Given the description of an element on the screen output the (x, y) to click on. 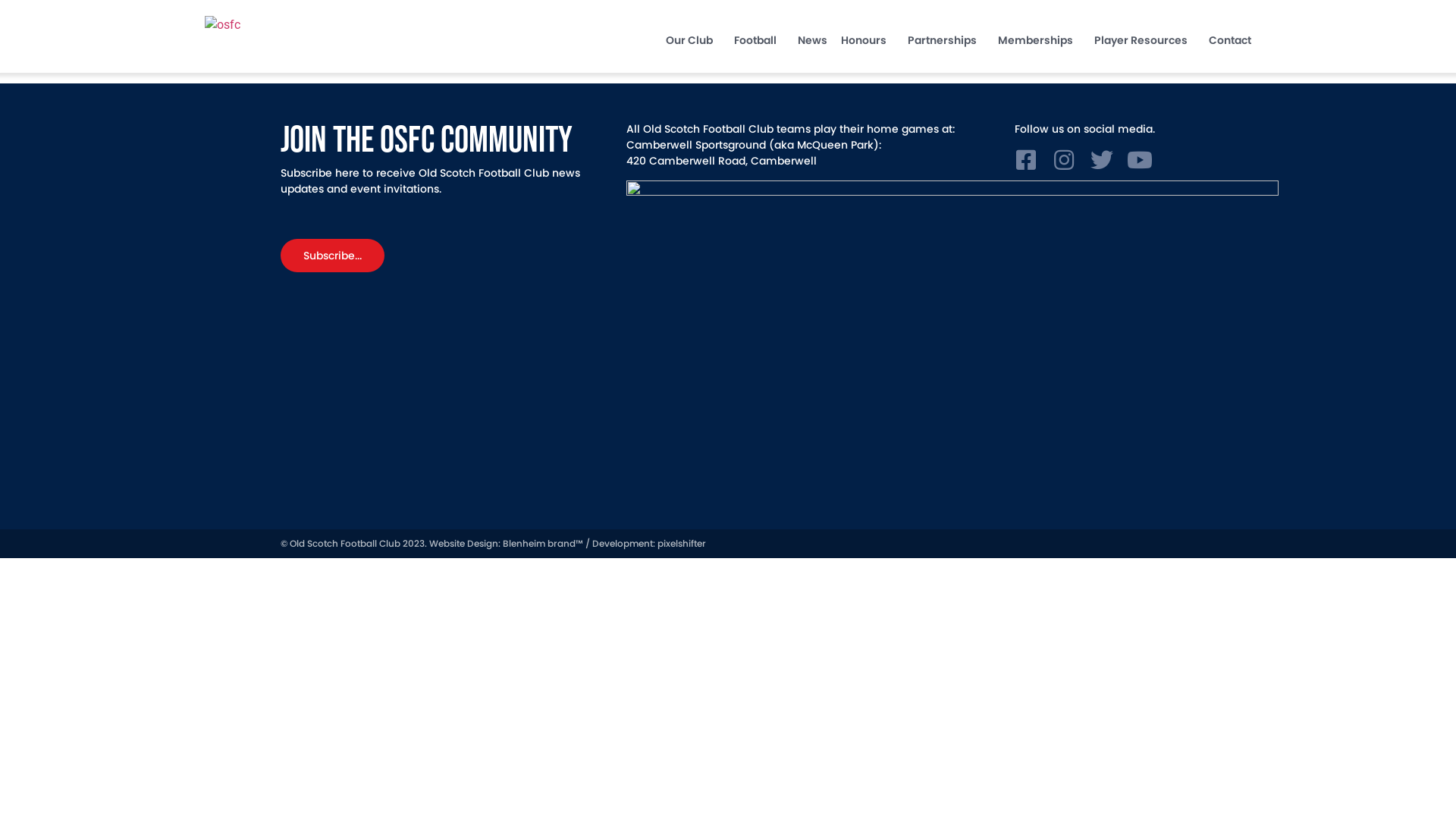
Football Element type: text (759, 39)
Subscribe... Element type: text (332, 255)
pixelshifter Element type: text (681, 542)
Partnerships Element type: text (945, 39)
Contact Element type: text (1229, 39)
Player Resources Element type: text (1144, 39)
420 Camberwell Road, Camberwell Element type: text (721, 160)
Memberships Element type: text (1038, 39)
Honours Element type: text (867, 39)
osfc Element type: hover (280, 24)
Our Club Element type: text (692, 39)
News Element type: text (812, 39)
